Given the description of an element on the screen output the (x, y) to click on. 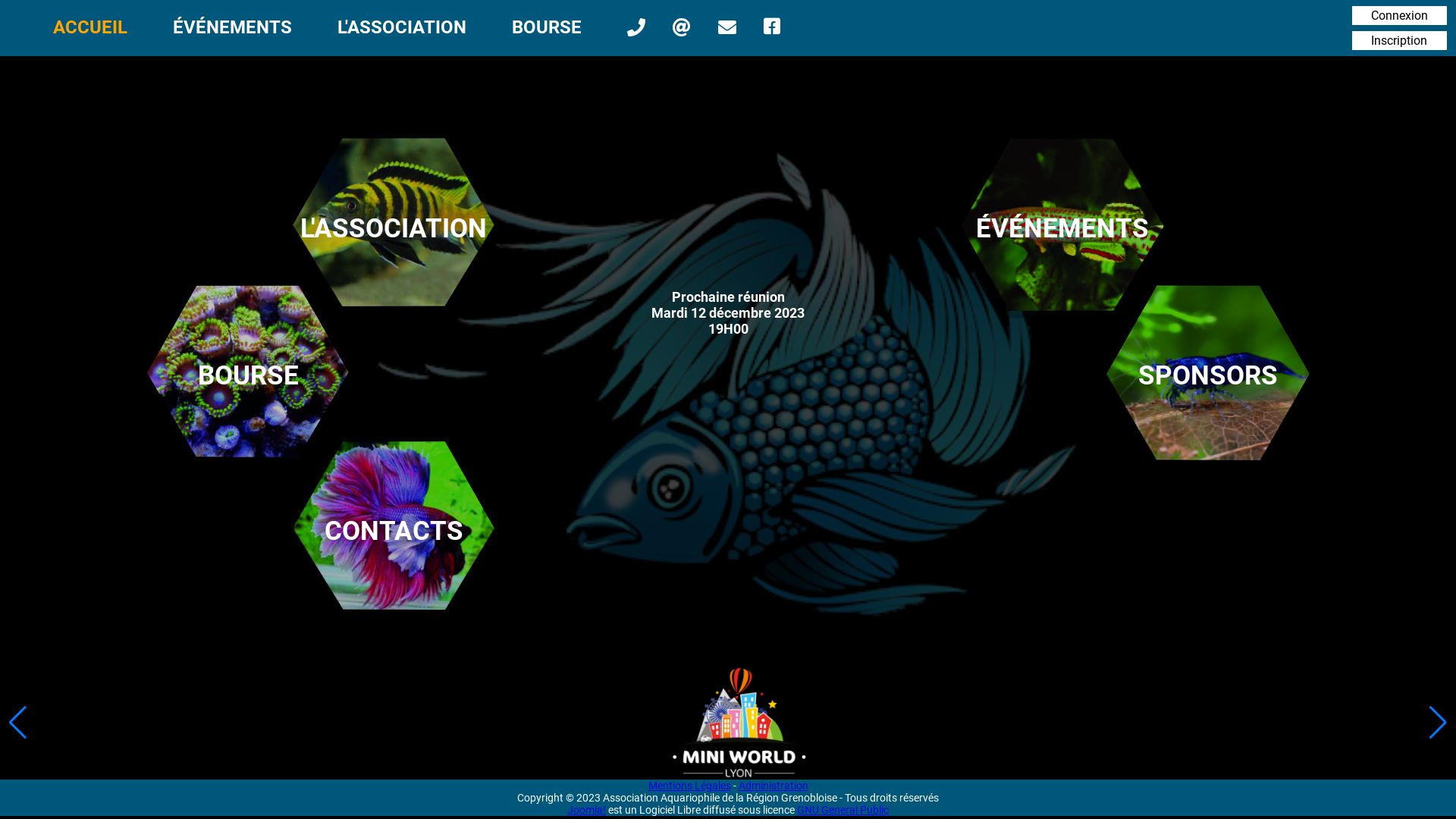
SPONSORS Element type: text (1207, 375)
Joomla! Element type: text (586, 809)
BOURSE Element type: text (546, 26)
L'ASSOCIATION Element type: text (393, 228)
  Element type: text (729, 26)
Administration Element type: text (773, 785)
Facebook Element type: hover (773, 26)
L'ASSOCIATION Element type: text (401, 26)
CONTACTS Element type: text (393, 531)
Inscription Element type: text (1399, 40)
ACCUEIL Element type: text (90, 26)
38AARG@GMAIL.COM Element type: hover (683, 26)
  Element type: text (683, 26)
GNU General Public Element type: text (842, 809)
BOURSE Element type: text (247, 375)
  Element type: text (638, 26)
  Element type: text (773, 26)
Connexion Element type: text (1399, 15)
